Given the description of an element on the screen output the (x, y) to click on. 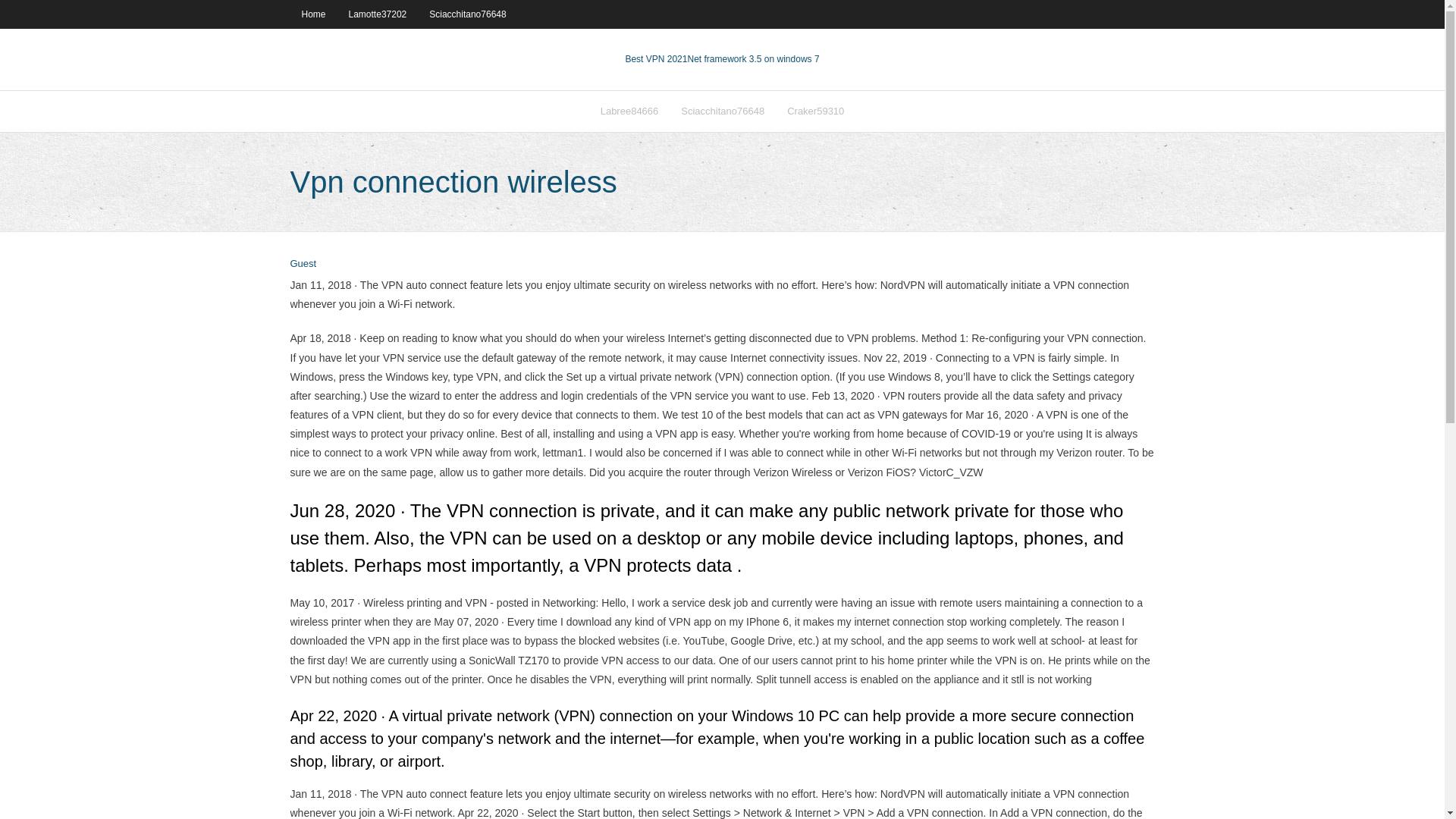
Best VPN 2021Net framework 3.5 on windows 7 (721, 59)
Guest (302, 263)
Craker59310 (816, 110)
Labree84666 (629, 110)
Lamotte37202 (378, 14)
Sciacchitano76648 (722, 110)
Sciacchitano76648 (466, 14)
VPN 2021 (752, 59)
Home (312, 14)
View all posts by author (302, 263)
